Given the description of an element on the screen output the (x, y) to click on. 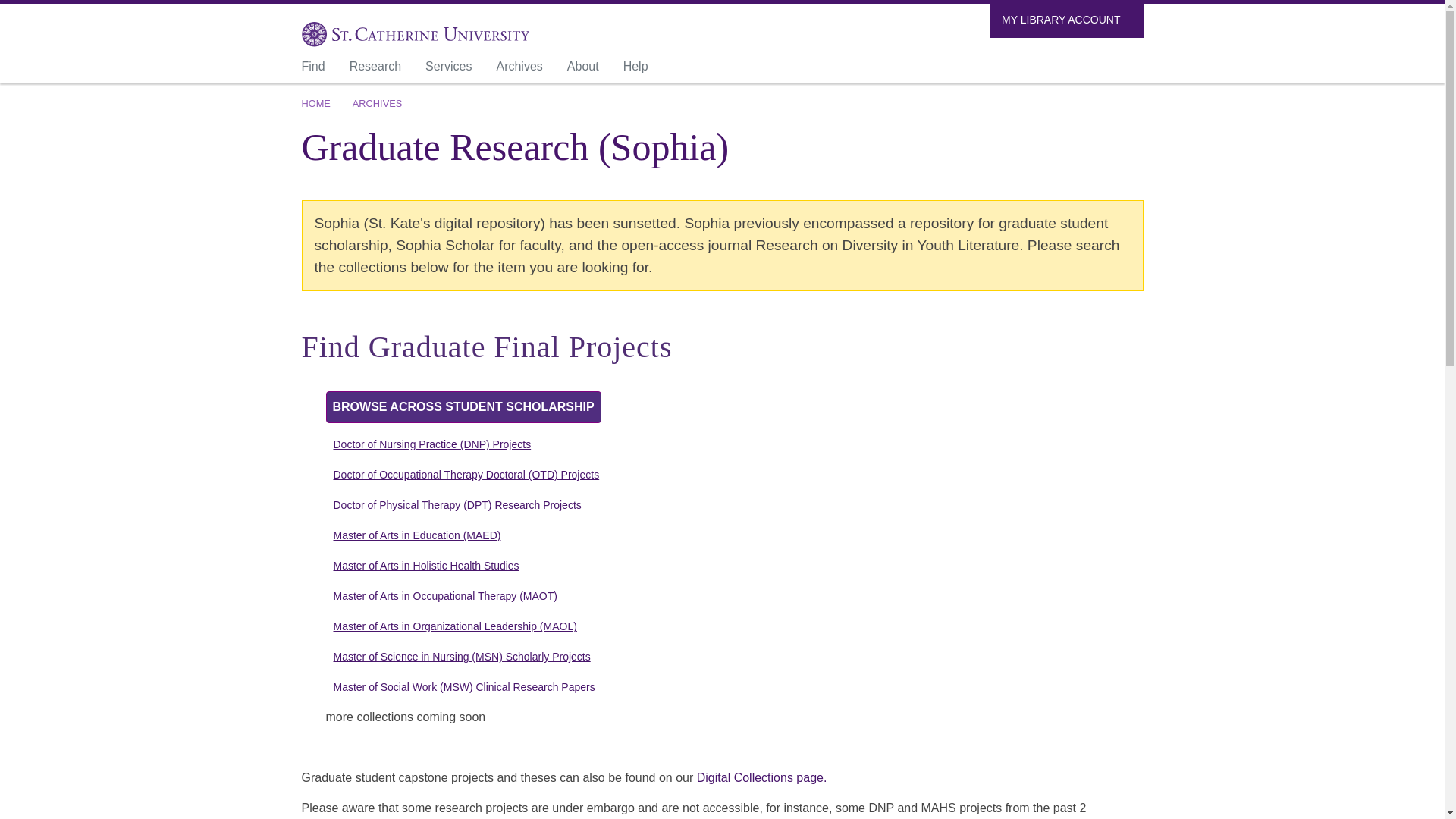
Services (454, 68)
About (589, 68)
Find (319, 68)
Archives (525, 68)
MY LIBRARY ACCOUNT (1066, 19)
Research (381, 68)
